Given the description of an element on the screen output the (x, y) to click on. 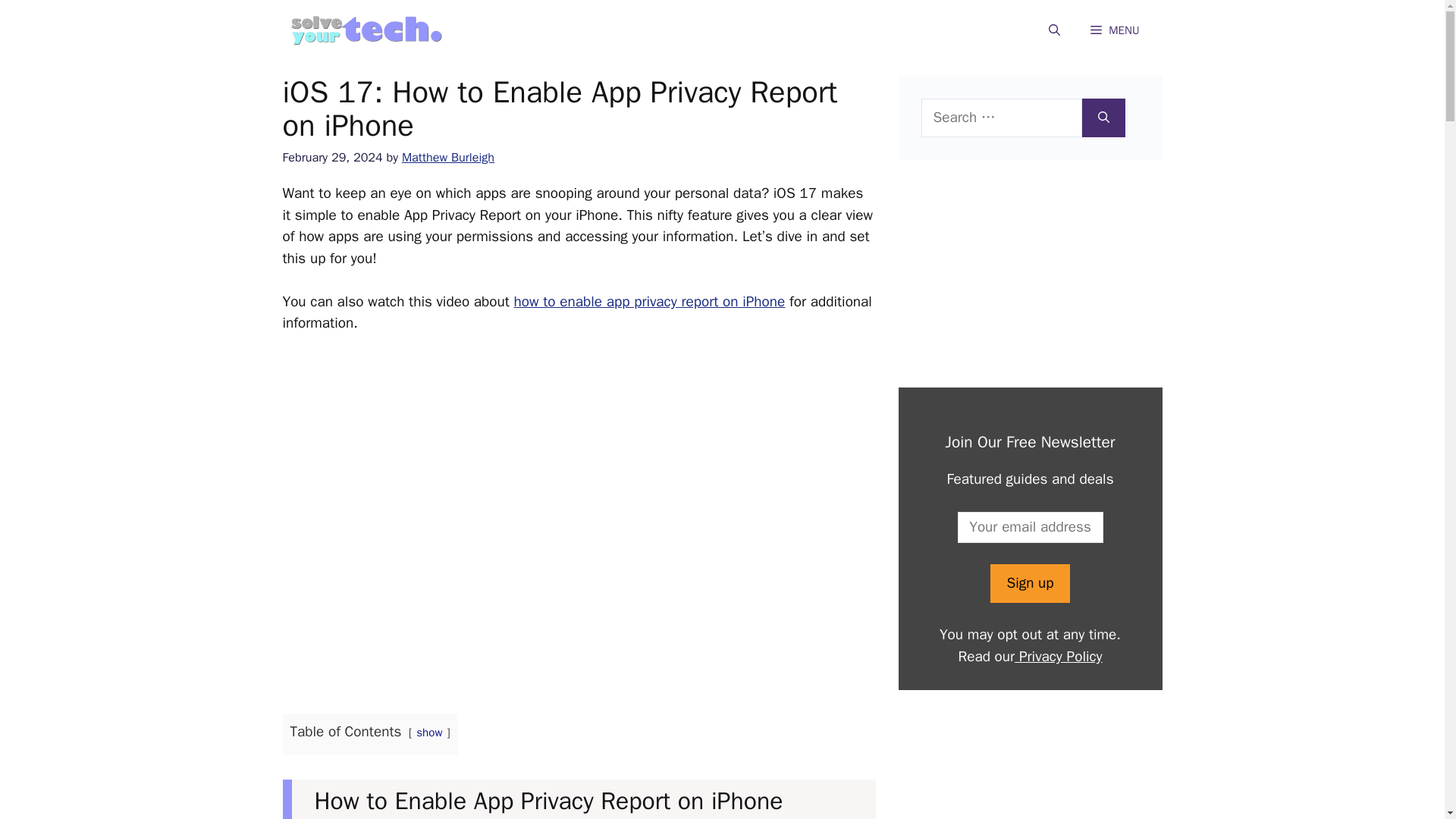
Matthew Burleigh (448, 157)
how to enable app privacy report on iPhone (649, 301)
Sign up (1029, 583)
MENU (1114, 30)
show (429, 732)
